Given the description of an element on the screen output the (x, y) to click on. 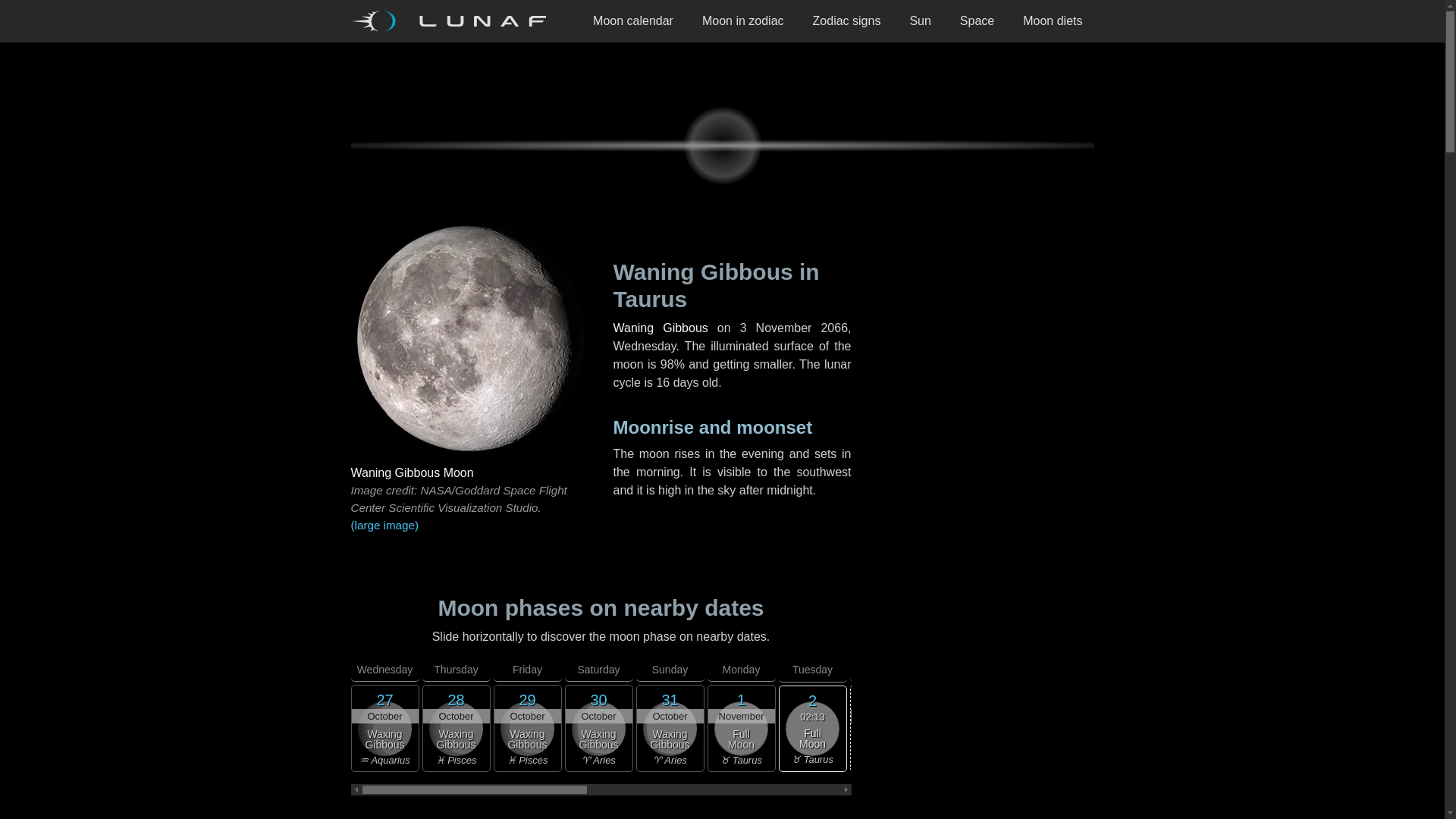
Space (977, 21)
Moon calendar (632, 21)
Large image PNG: Waning Gibbous Moon (469, 525)
Moon in zodiac (742, 21)
Moon diets (1052, 21)
Sun (920, 21)
Space (977, 21)
Lunaf (453, 21)
Zodiac signs (847, 21)
Moon calendar (632, 21)
Zodiac signs (847, 21)
Moon in zodiac (742, 21)
Moon diets (1052, 21)
Sun (920, 21)
